Given the description of an element on the screen output the (x, y) to click on. 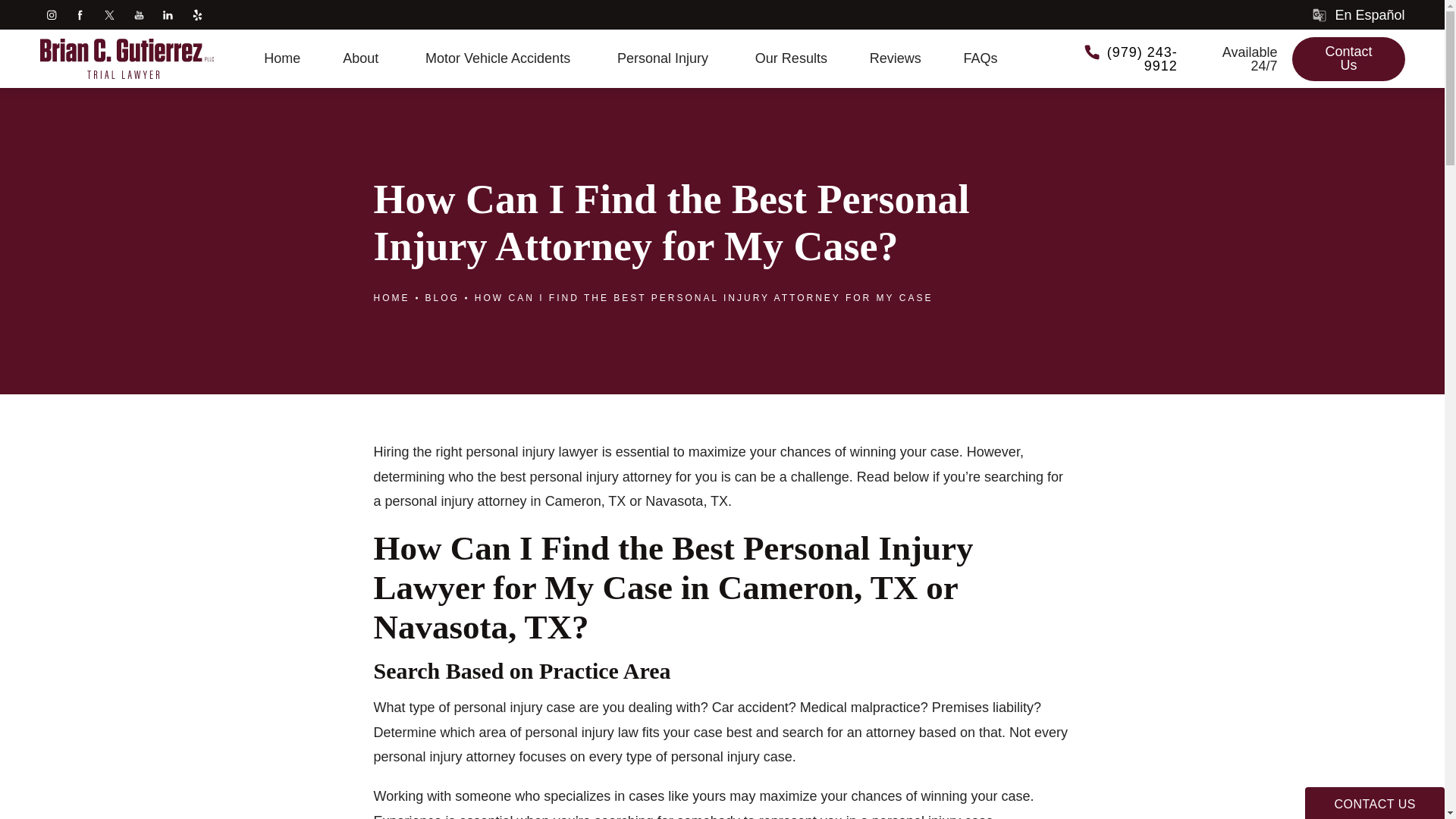
Home (281, 58)
Gutierrez Law on Yelp (198, 15)
Gutierrez Law on Twitter (111, 15)
About (362, 58)
Motor Vehicle Accidents (499, 58)
Gutierrez Law on Youtube (140, 15)
Gutierrez Law on Facebook (81, 15)
Personal Injury (665, 58)
Gutierrez Law on Linkedin (169, 15)
Gutierrez Law on Instagram (53, 15)
